Given the description of an element on the screen output the (x, y) to click on. 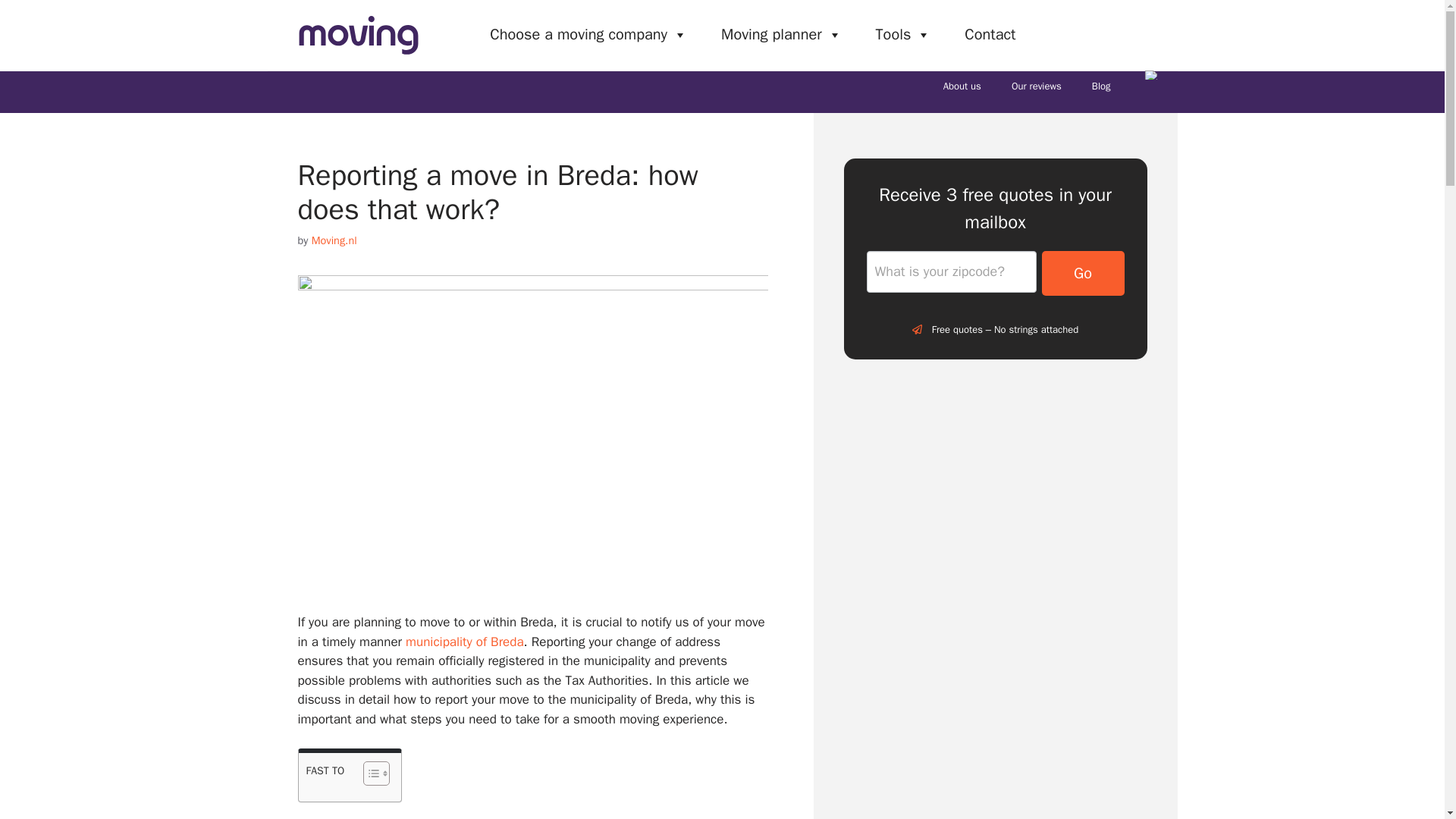
Dutch (1151, 74)
Moving planner (780, 34)
Choose a moving company (587, 34)
Free quote (1084, 34)
Contact (989, 34)
View all posts by Moving.nl (333, 240)
Tools (903, 34)
